Given the description of an element on the screen output the (x, y) to click on. 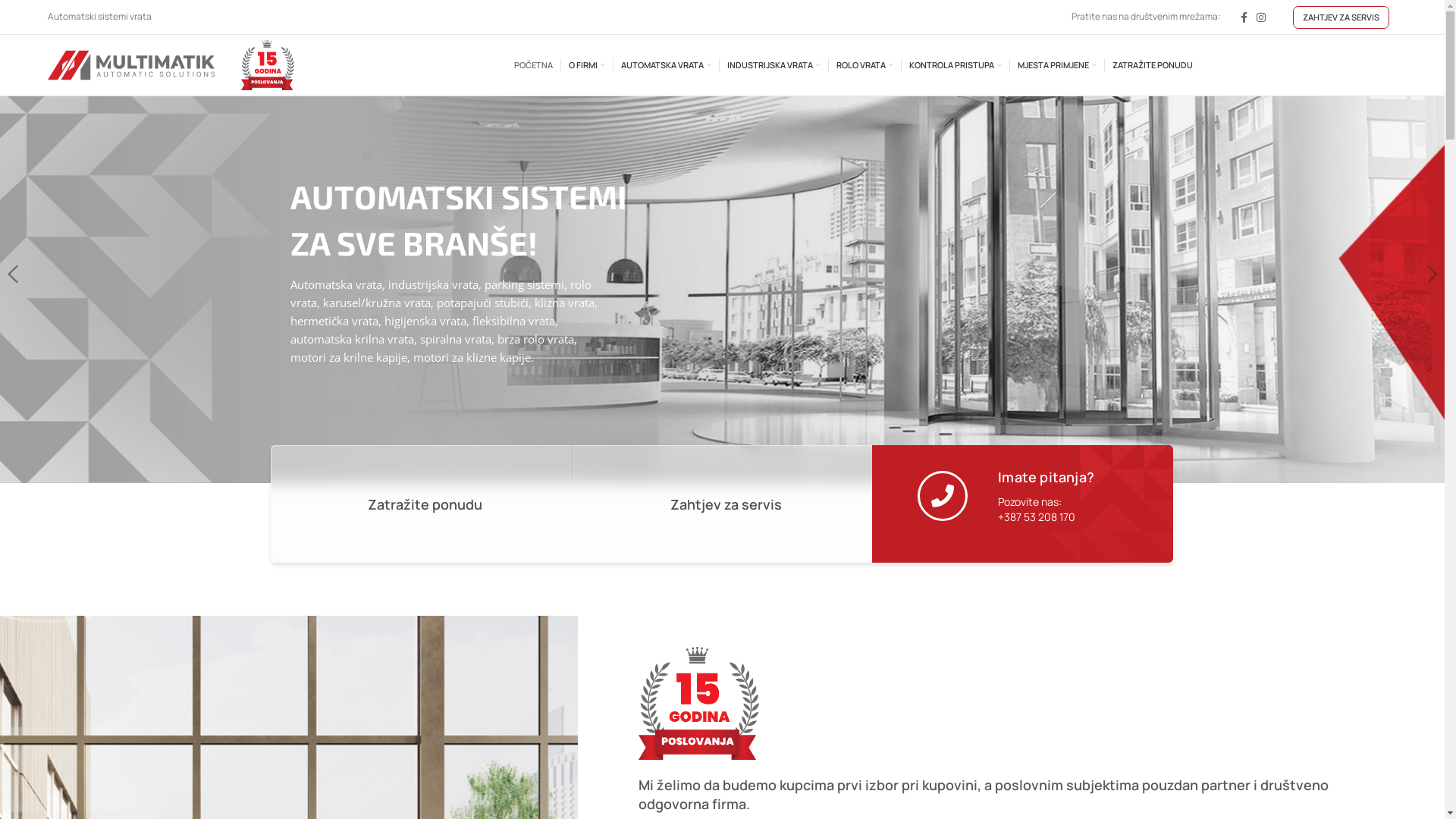
ZAHTJEV ZA SERVIS Element type: text (1340, 16)
ROLO VRATA Element type: text (864, 65)
Zahtjev za servis Element type: text (725, 504)
INDUSTRIJSKA VRATA Element type: text (772, 65)
Imate pitanja? Element type: text (1045, 476)
AUTOMATSKA VRATA Element type: text (665, 65)
O FIRMI Element type: text (586, 65)
MJESTA PRIMJENE Element type: text (1057, 65)
KONTROLA PRISTUPA Element type: text (954, 65)
Pozovite nas:
+387 53 208 170 Element type: text (1036, 509)
